Given the description of an element on the screen output the (x, y) to click on. 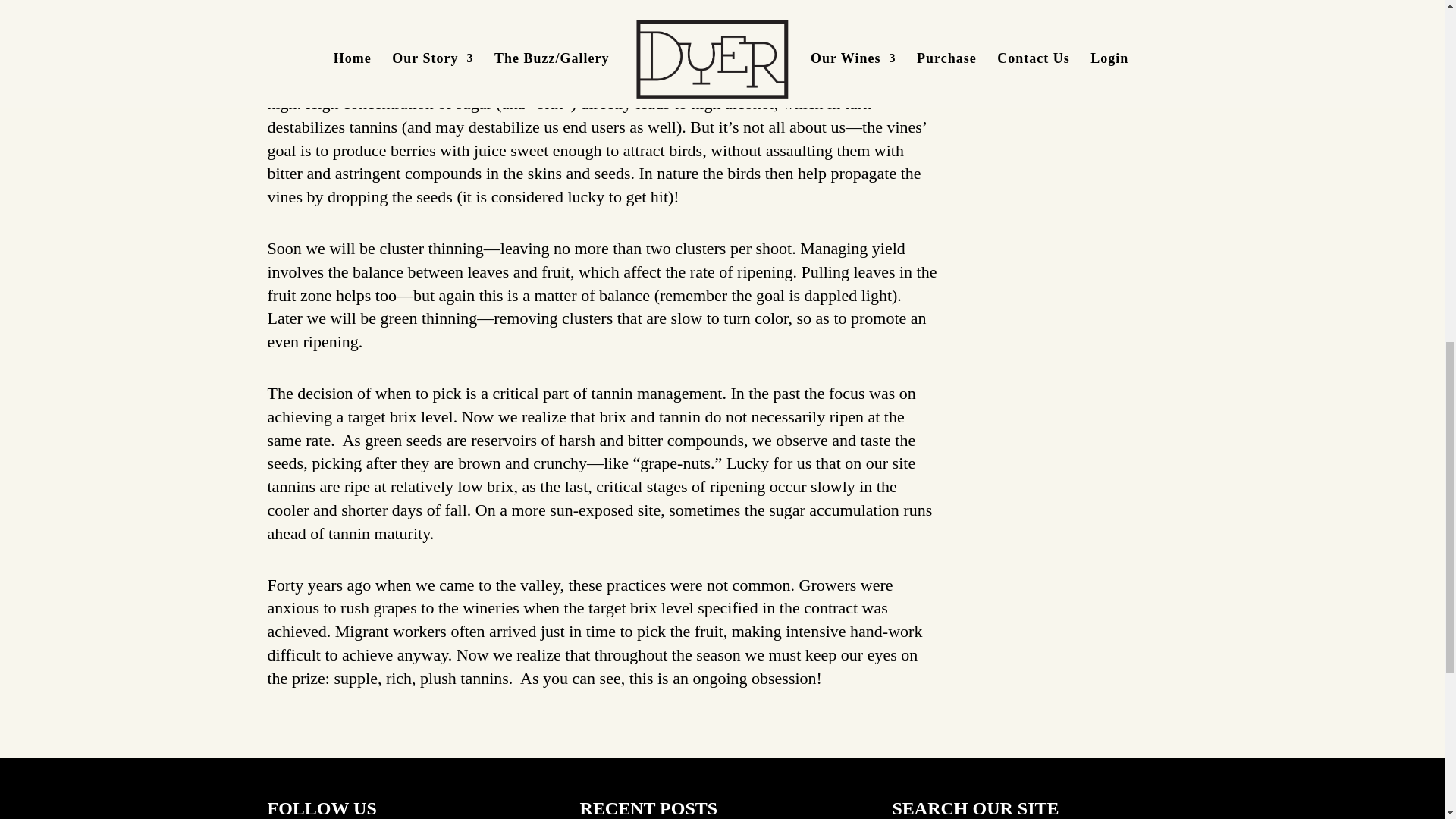
Search (1154, 1)
